Given the description of an element on the screen output the (x, y) to click on. 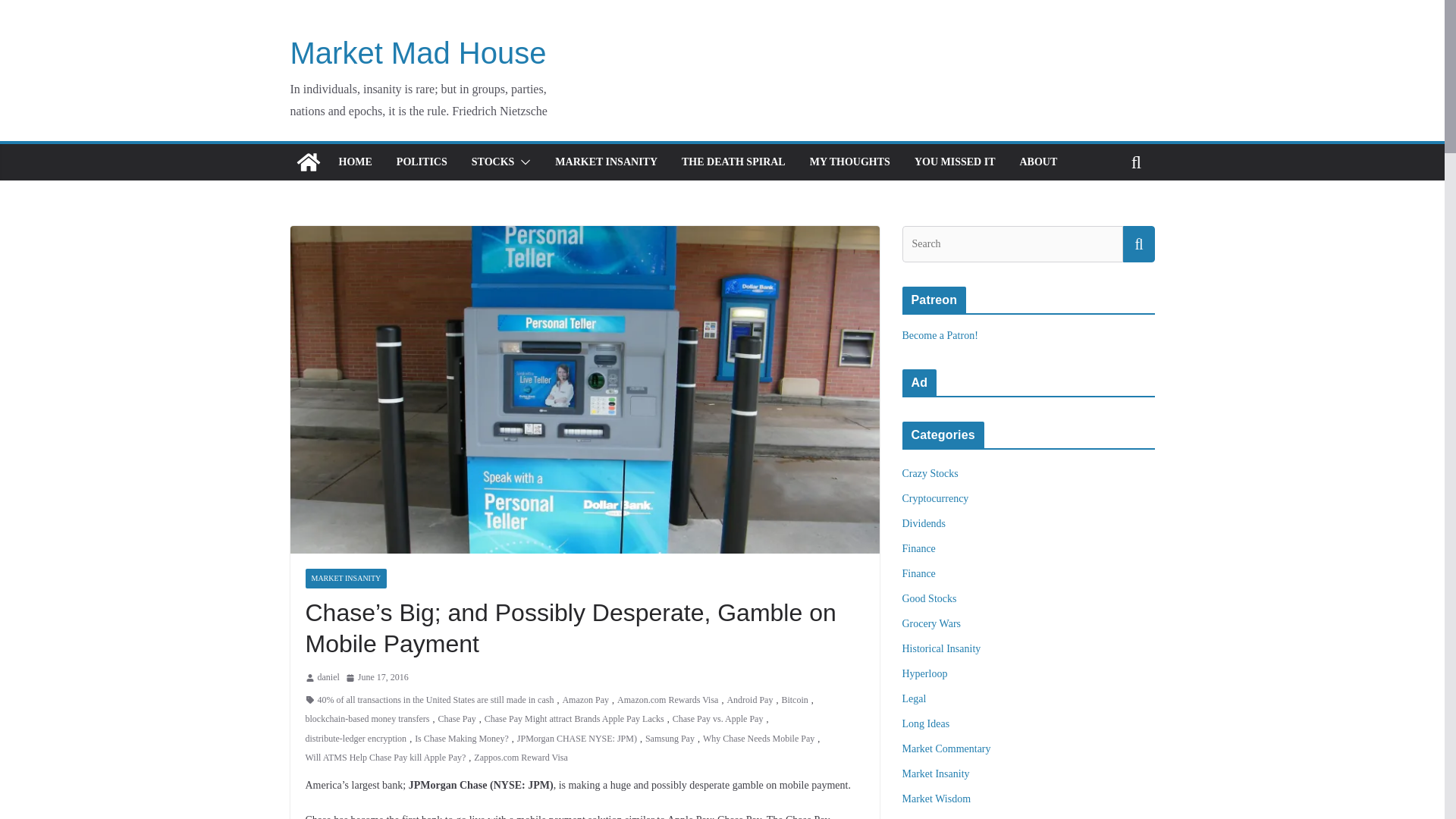
June 17, 2016 (377, 677)
Market Mad House (417, 52)
5:04 pm (377, 677)
MARKET INSANITY (345, 578)
Android Pay (749, 700)
Bitcoin (794, 700)
Samsung Pay (669, 739)
YOU MISSED IT (954, 161)
Zappos.com Reward Visa (520, 758)
Chase Pay (457, 719)
Chase Pay Might attract Brands Apple Pay Lacks (573, 719)
daniel (328, 677)
ABOUT (1038, 161)
Amazon.com Rewards Visa (667, 700)
Why Chase Needs Mobile Pay (758, 739)
